Given the description of an element on the screen output the (x, y) to click on. 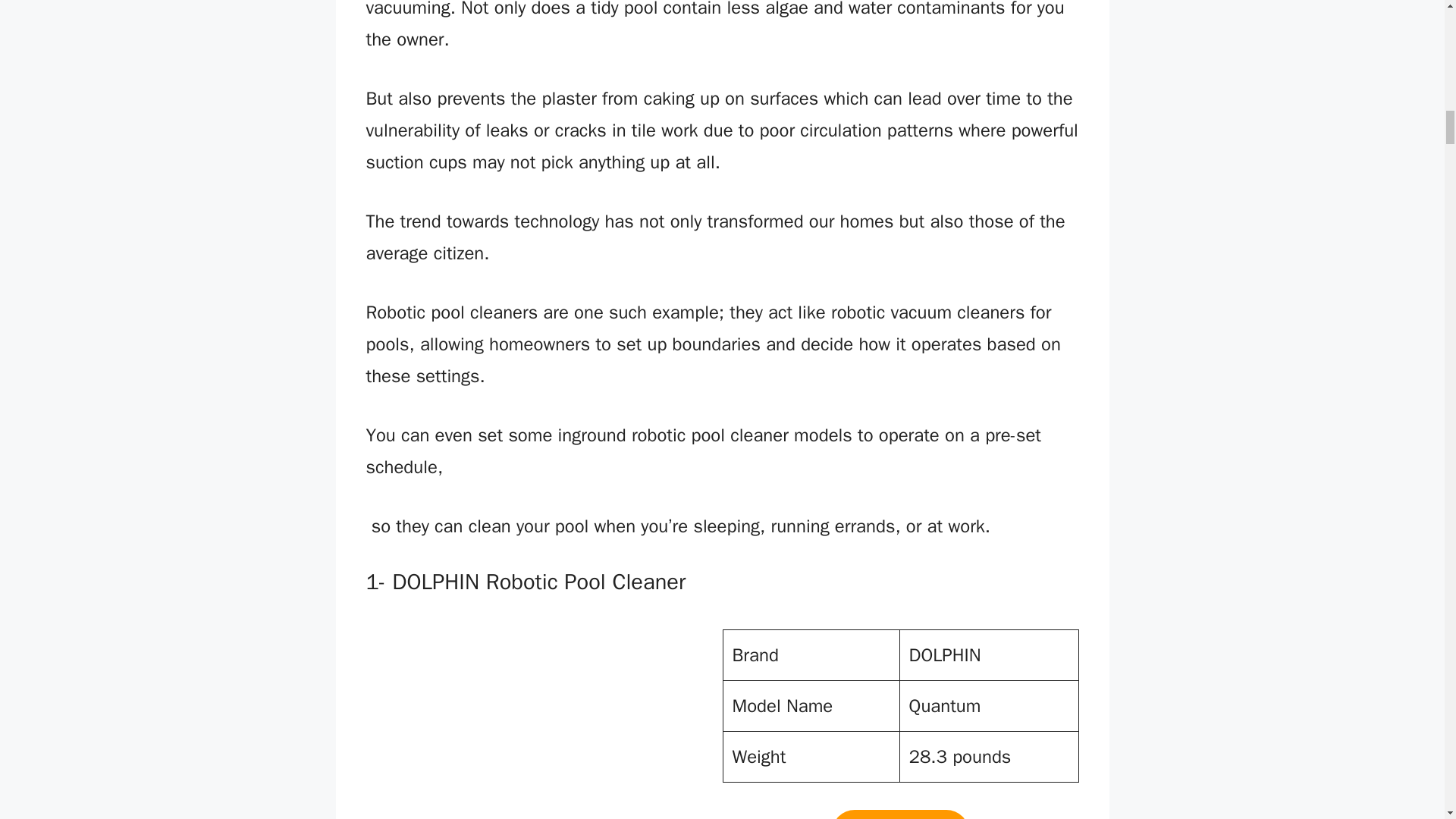
Check Price (899, 814)
